Given the description of an element on the screen output the (x, y) to click on. 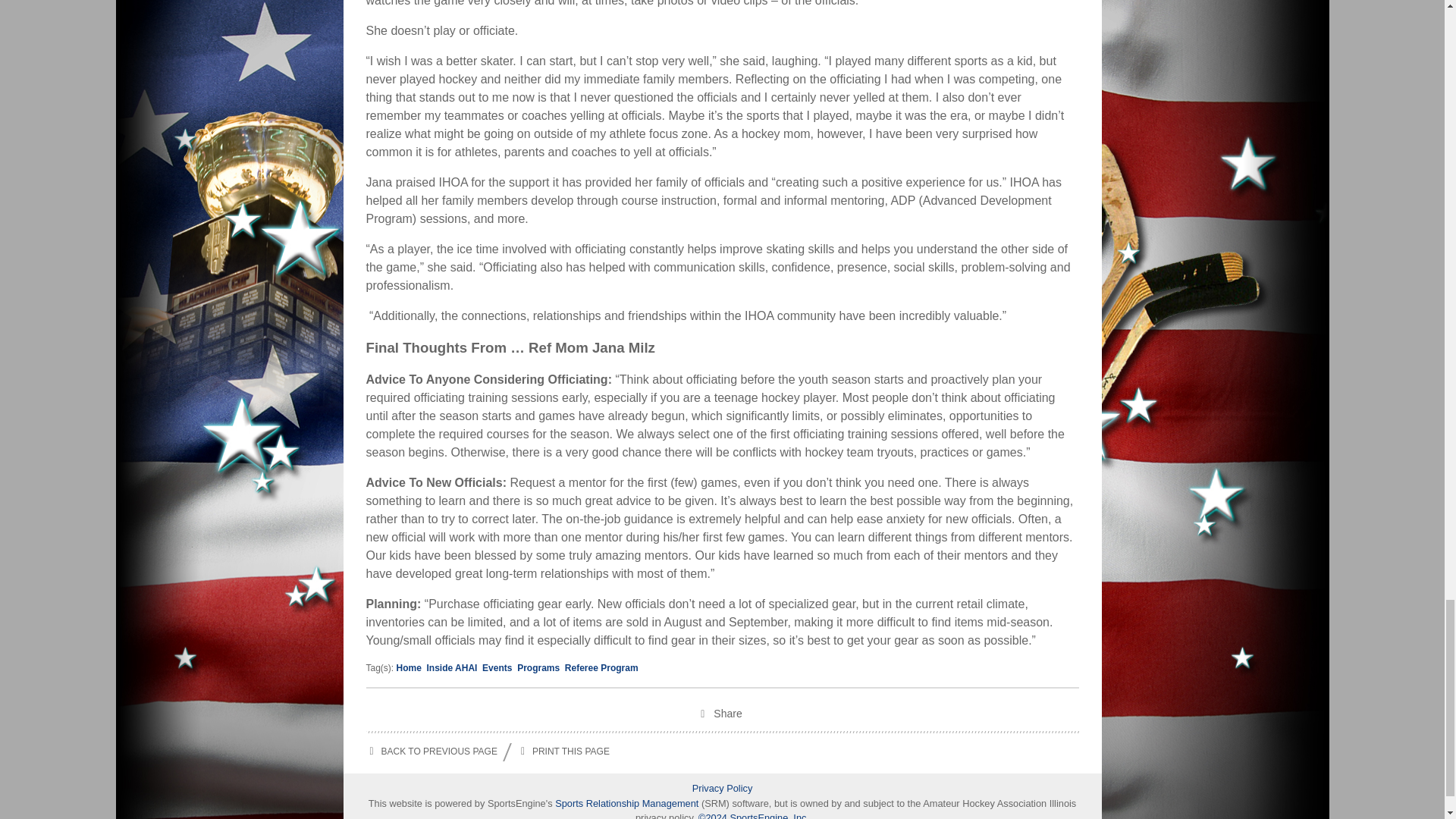
Sports Relationship Management (627, 803)
Share (721, 715)
Inside AHAI (451, 667)
Privacy Policy (722, 788)
Programs (537, 667)
Events (496, 667)
BACK TO PREVIOUS PAGE (430, 752)
Referee Program (601, 667)
Home (409, 667)
PRINT THIS PAGE (563, 752)
